Given the description of an element on the screen output the (x, y) to click on. 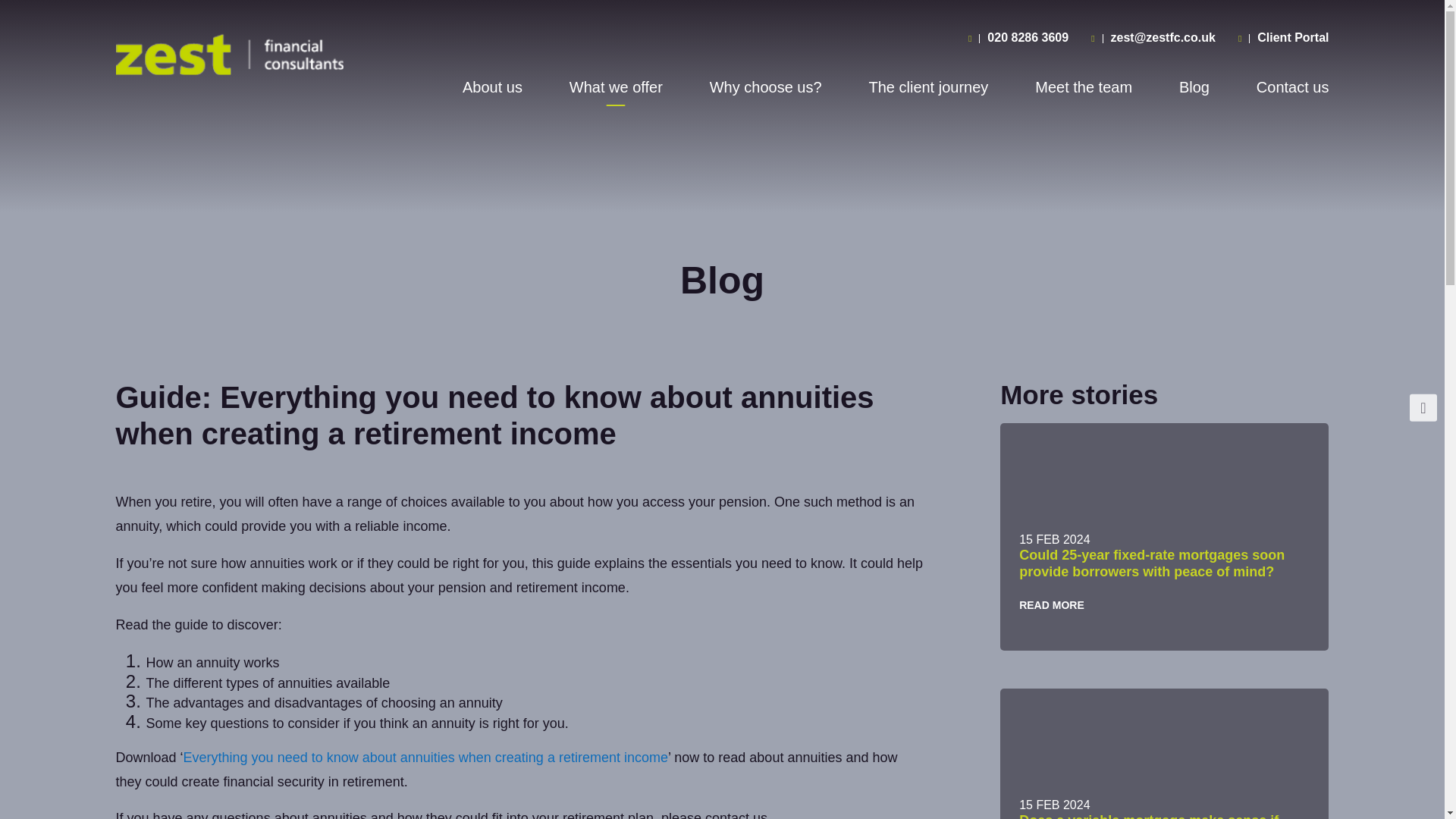
About us (492, 90)
Why choose us? (766, 90)
Blog (1194, 90)
Meet the team (1083, 90)
What we offer (615, 90)
020 8286 3609 (1027, 37)
Contact us (1292, 90)
Client Portal (1292, 37)
The client journey (927, 90)
